Given the description of an element on the screen output the (x, y) to click on. 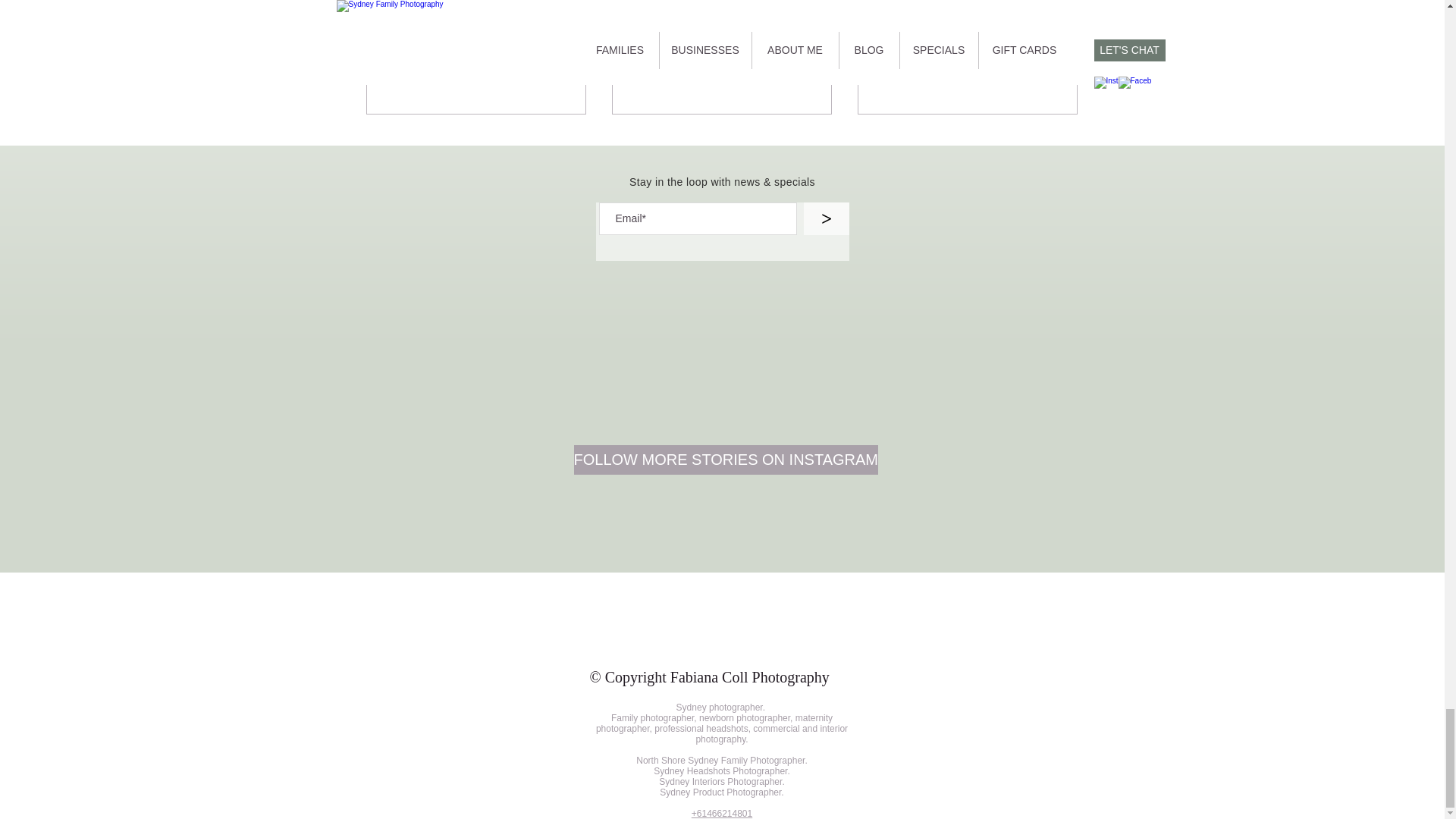
FOLLOW MORE STORIES ON INSTAGRAM (725, 460)
Family Session at Their Special Spot (721, 69)
An outdoor family photo session to bid farewell to Bondi (476, 69)
